Given the description of an element on the screen output the (x, y) to click on. 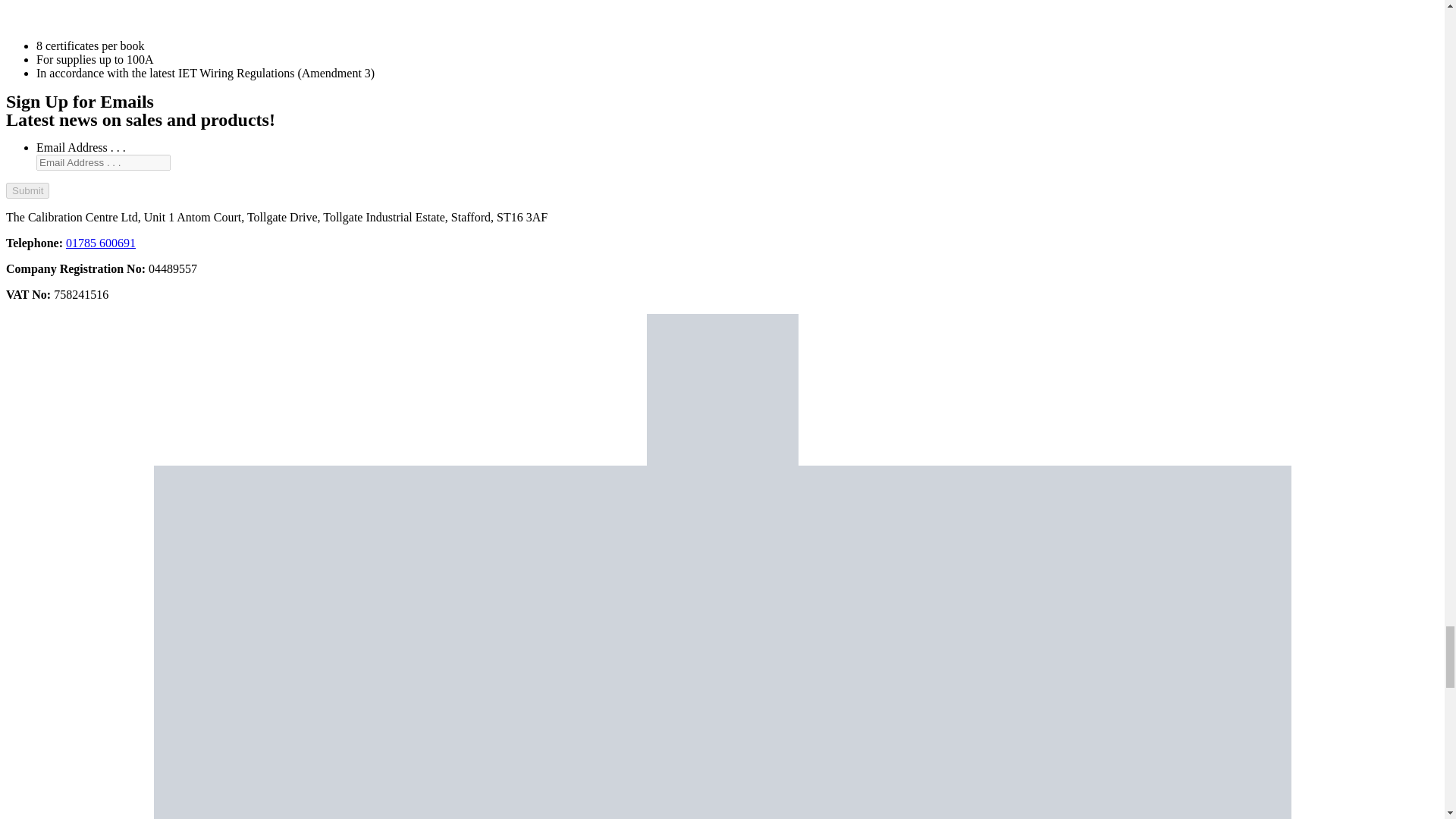
Submit (27, 190)
